Given the description of an element on the screen output the (x, y) to click on. 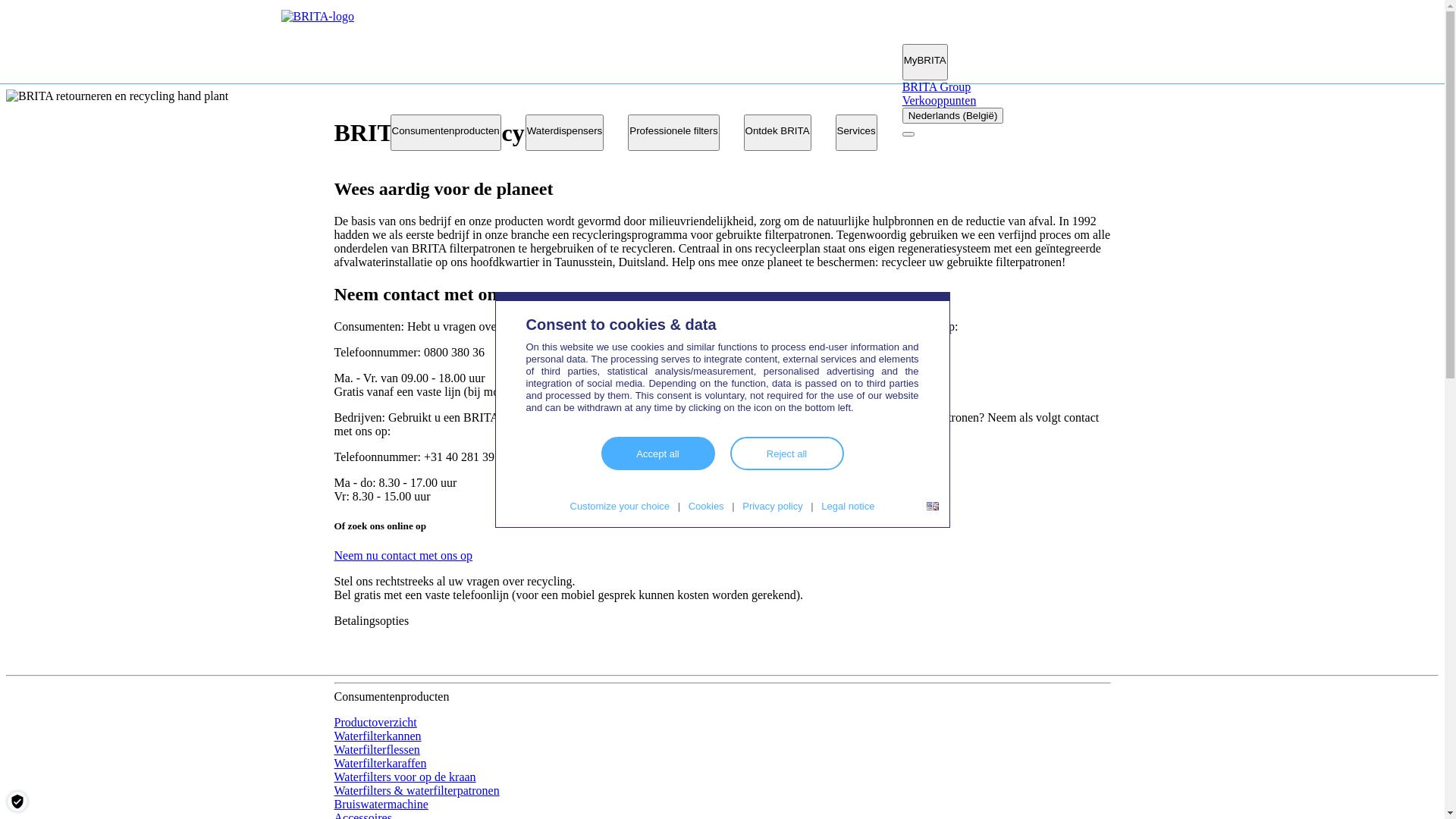
Bruiswatermachine Element type: text (380, 803)
Privacy policy Element type: text (772, 505)
Professionele filters Element type: text (672, 132)
Legal notice Element type: text (847, 505)
Services Element type: text (856, 132)
Waterfilters voor op de kraan Element type: text (404, 776)
Privacy settings Element type: hover (17, 801)
Cookies Element type: text (706, 505)
Waterfilters & waterfilterpatronen Element type: text (415, 790)
BRITA Group Element type: text (936, 86)
Customize your choice Element type: text (619, 505)
Verkooppunten Element type: text (939, 100)
Waterdispensers Element type: text (564, 132)
Reject all Element type: text (786, 453)
Neem nu contact met ons op Element type: text (402, 555)
Language: en Element type: hover (932, 506)
Ontdek BRITA Element type: text (777, 132)
Accept all Element type: text (657, 453)
MyBRITA Element type: text (924, 61)
Consumentenproducten Element type: text (444, 132)
Waterfilterkaraffen Element type: text (379, 762)
Productoverzicht Element type: text (374, 721)
Waterfilterflessen Element type: text (376, 749)
Waterfilterkannen Element type: text (376, 735)
Language: en Element type: hover (932, 505)
